Given the description of an element on the screen output the (x, y) to click on. 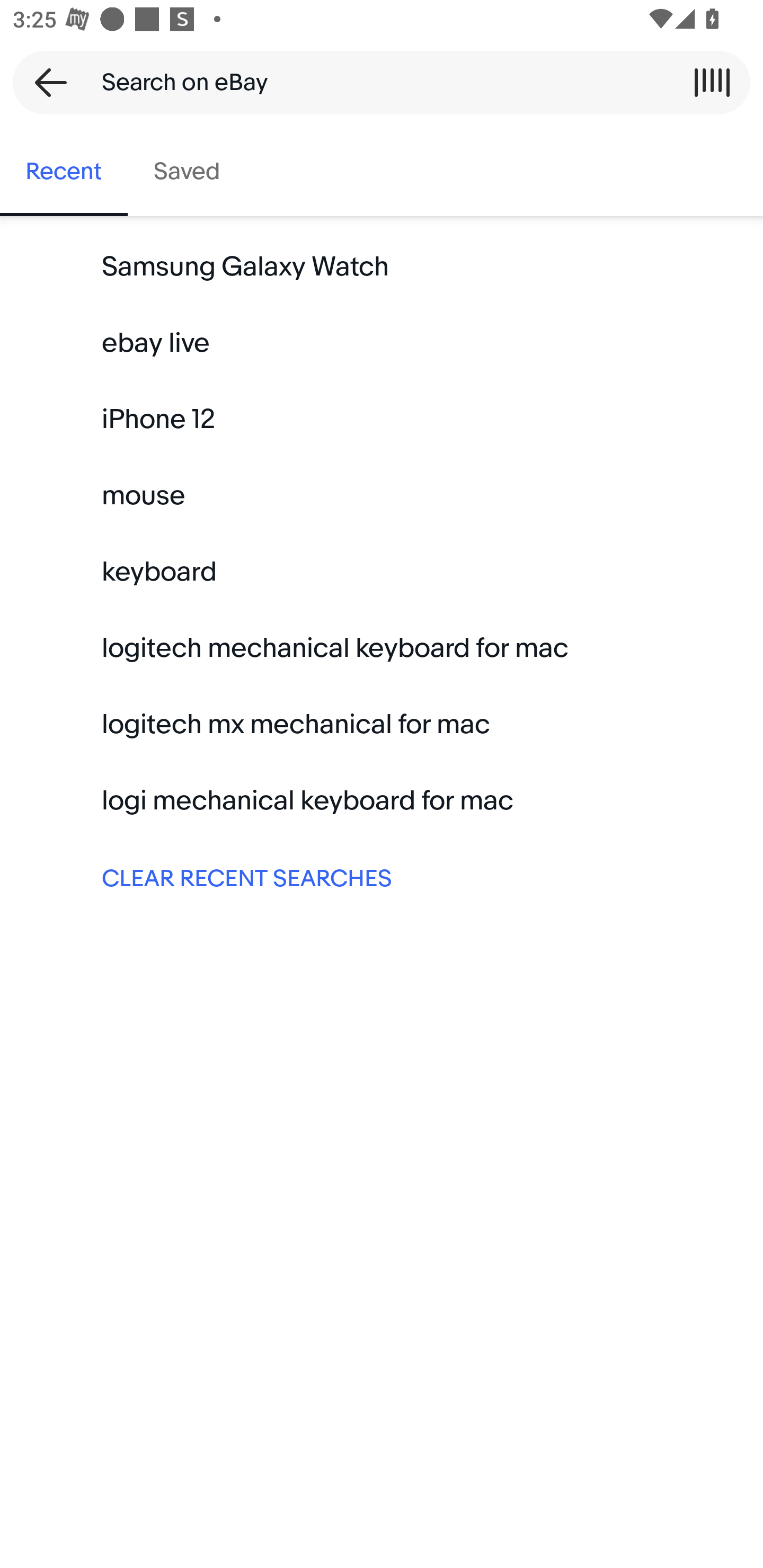
Back (44, 82)
Scan a barcode (711, 82)
Search on eBay (375, 82)
Saved, tab 2 of 2 Saved (186, 171)
ebay live Keyword search ebay live: (381, 343)
iPhone 12 Keyword search iPhone 12: (381, 419)
mouse Keyword search mouse: (381, 495)
keyboard Keyword search keyboard: (381, 571)
CLEAR RECENT SEARCHES (381, 876)
